Given the description of an element on the screen output the (x, y) to click on. 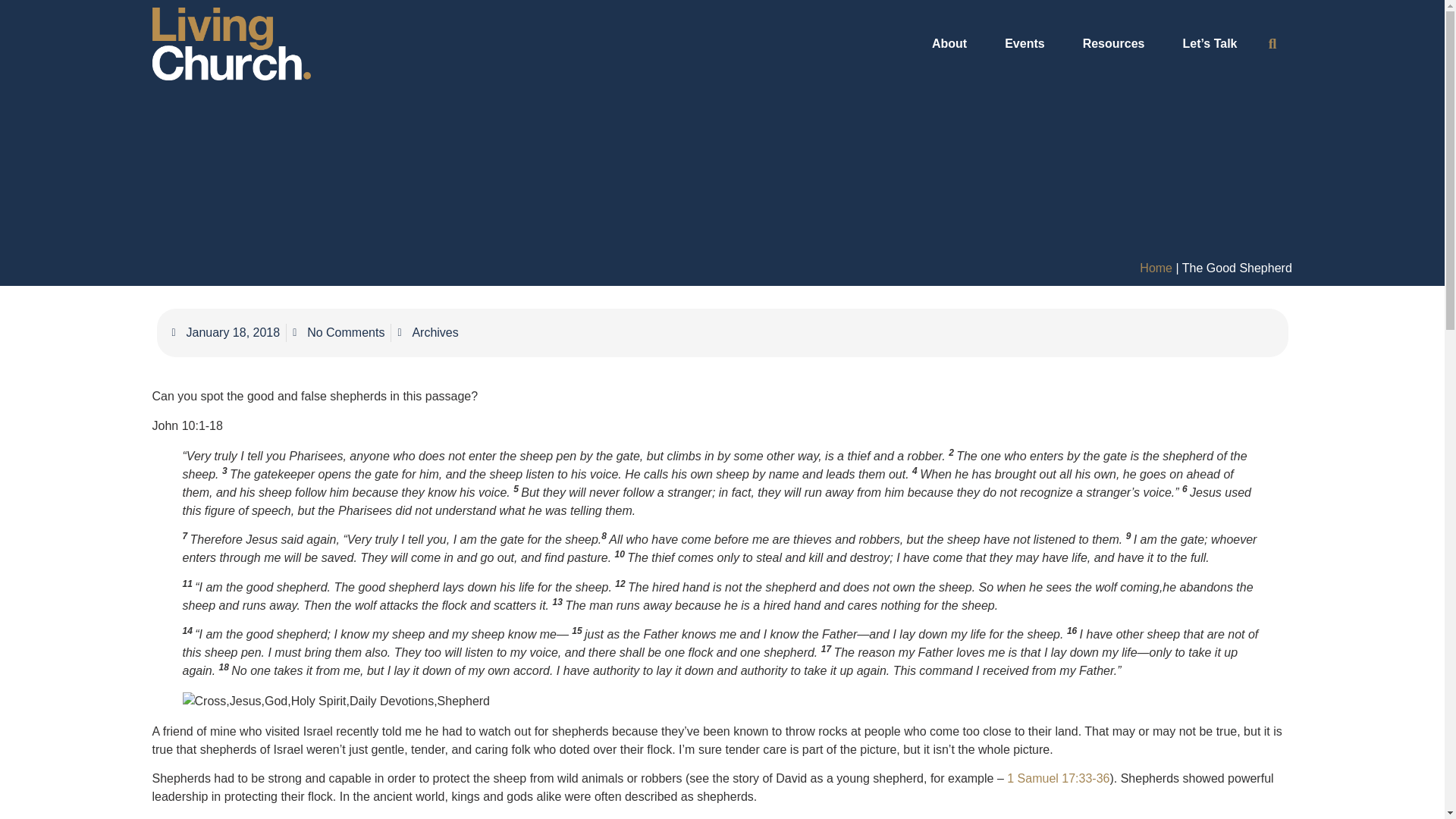
1 Samuel 17:33-36 (1058, 778)
Archives (435, 332)
January 18, 2018 (225, 332)
No Comments (338, 332)
About (953, 43)
Events (1028, 43)
Resources (1117, 43)
Home (1156, 267)
